Given the description of an element on the screen output the (x, y) to click on. 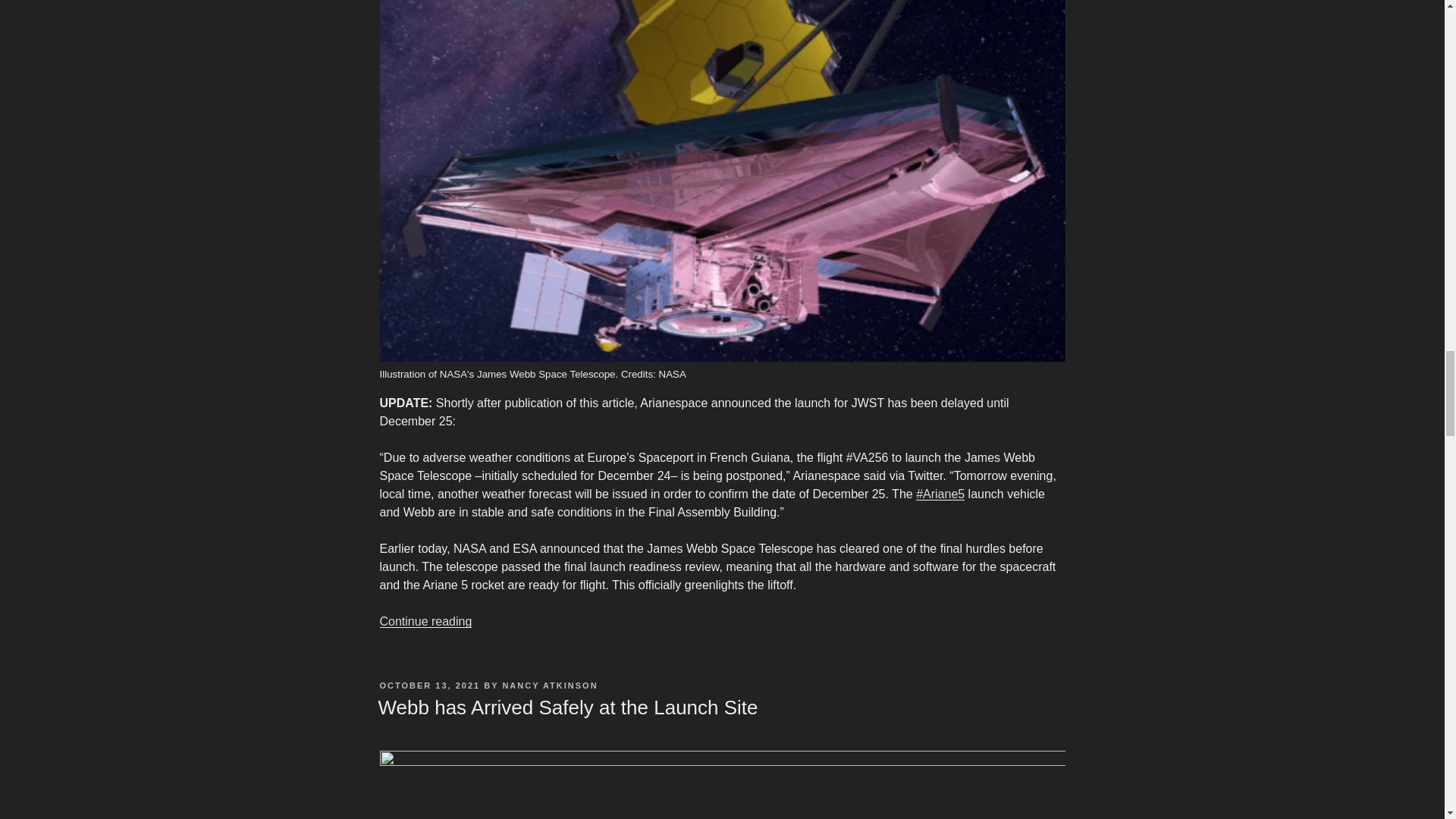
NANCY ATKINSON (549, 685)
OCTOBER 13, 2021 (429, 685)
Webb has Arrived Safely at the Launch Site (567, 707)
